Given the description of an element on the screen output the (x, y) to click on. 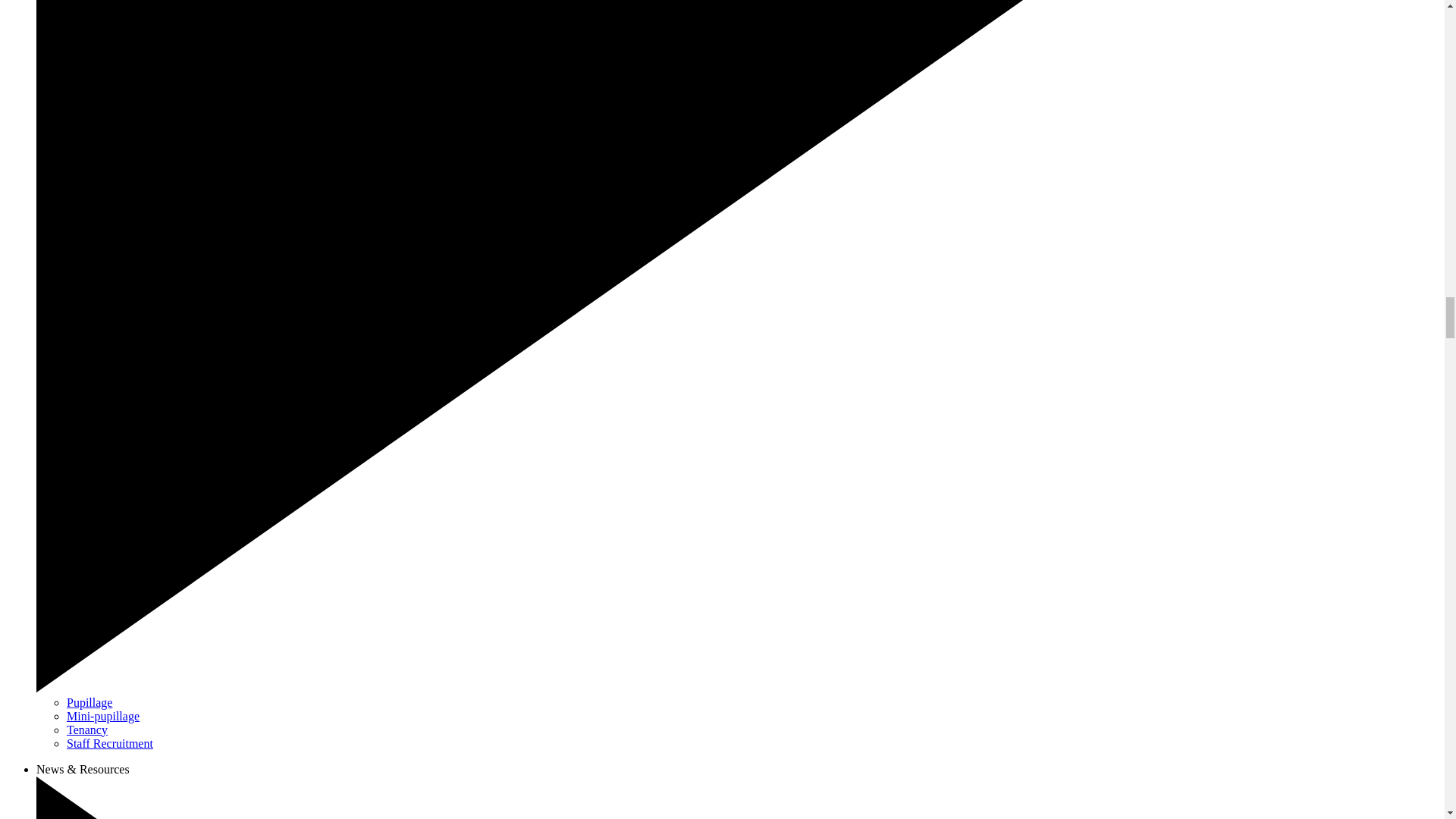
Staff Recruitment (109, 743)
Pupillage (89, 702)
Tenancy (86, 729)
Mini-pupillage (102, 716)
